Given the description of an element on the screen output the (x, y) to click on. 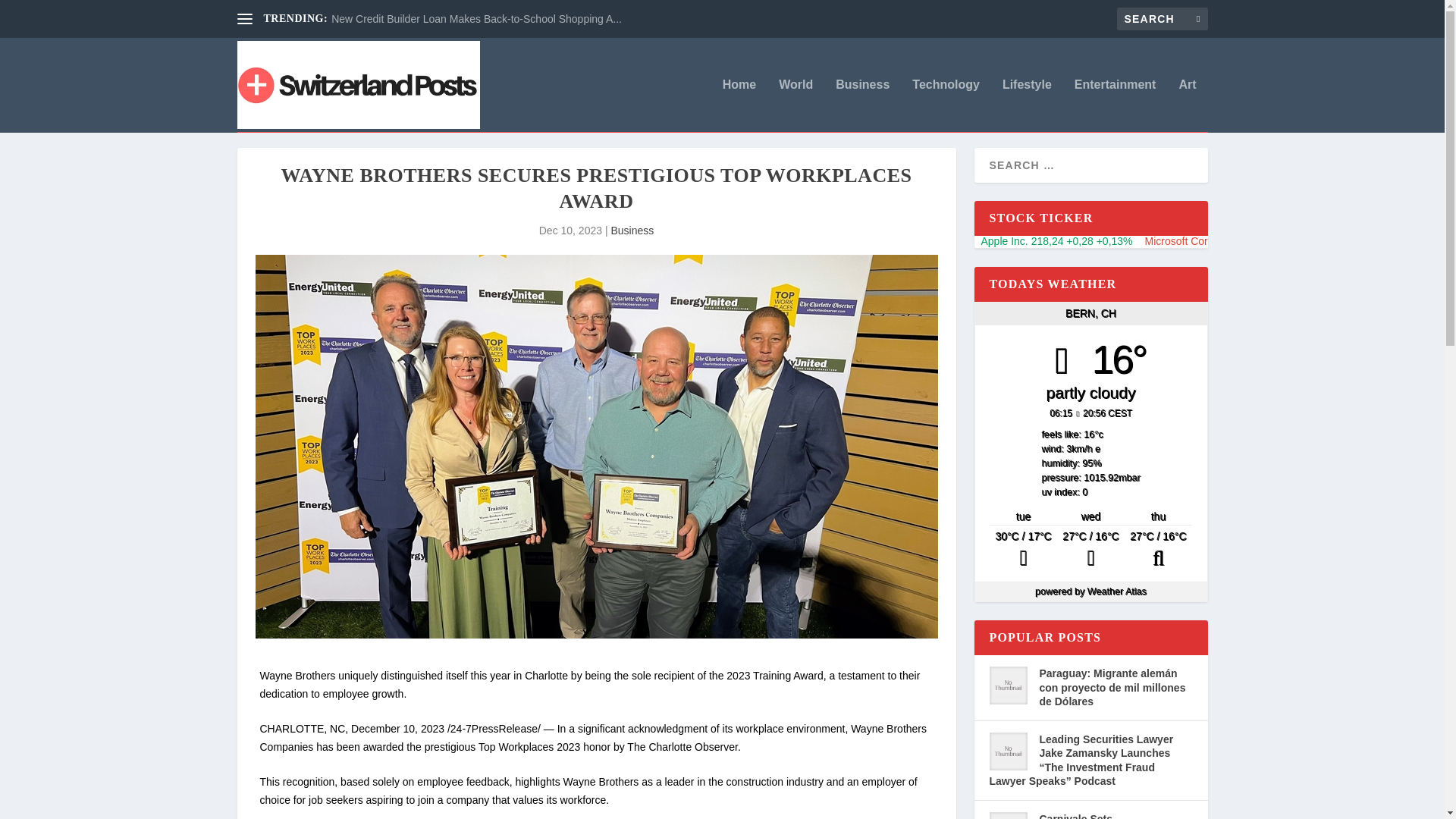
Business (862, 104)
Business (631, 230)
Lifestyle (1027, 104)
Technology (945, 104)
Search for: (1161, 18)
Entertainment (1115, 104)
New Credit Builder Loan Makes Back-to-School Shopping A... (476, 19)
